Given the description of an element on the screen output the (x, y) to click on. 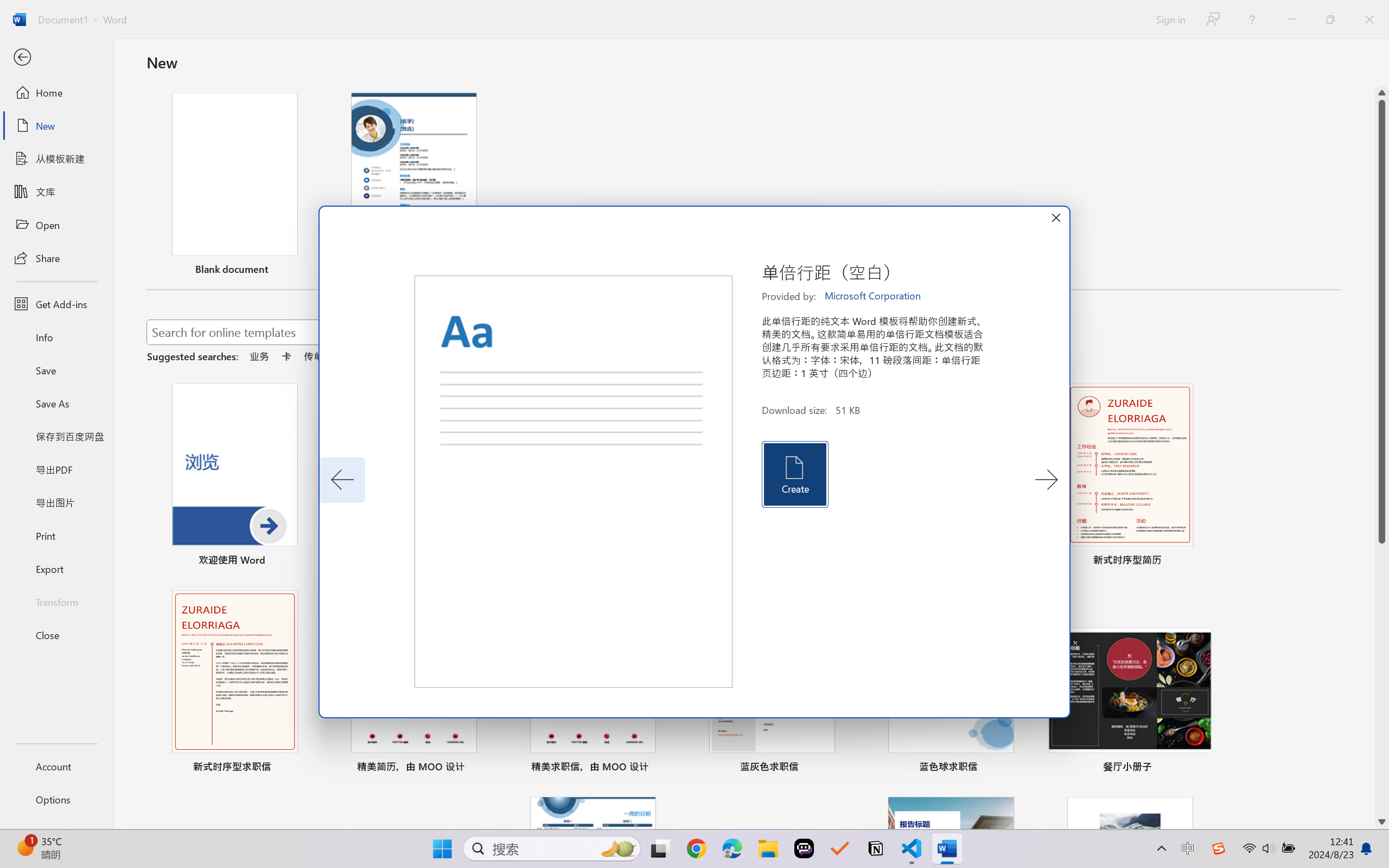
Options (56, 798)
Microsoft Corporation (873, 296)
Line up (1382, 92)
Save As (56, 403)
